Given the description of an element on the screen output the (x, y) to click on. 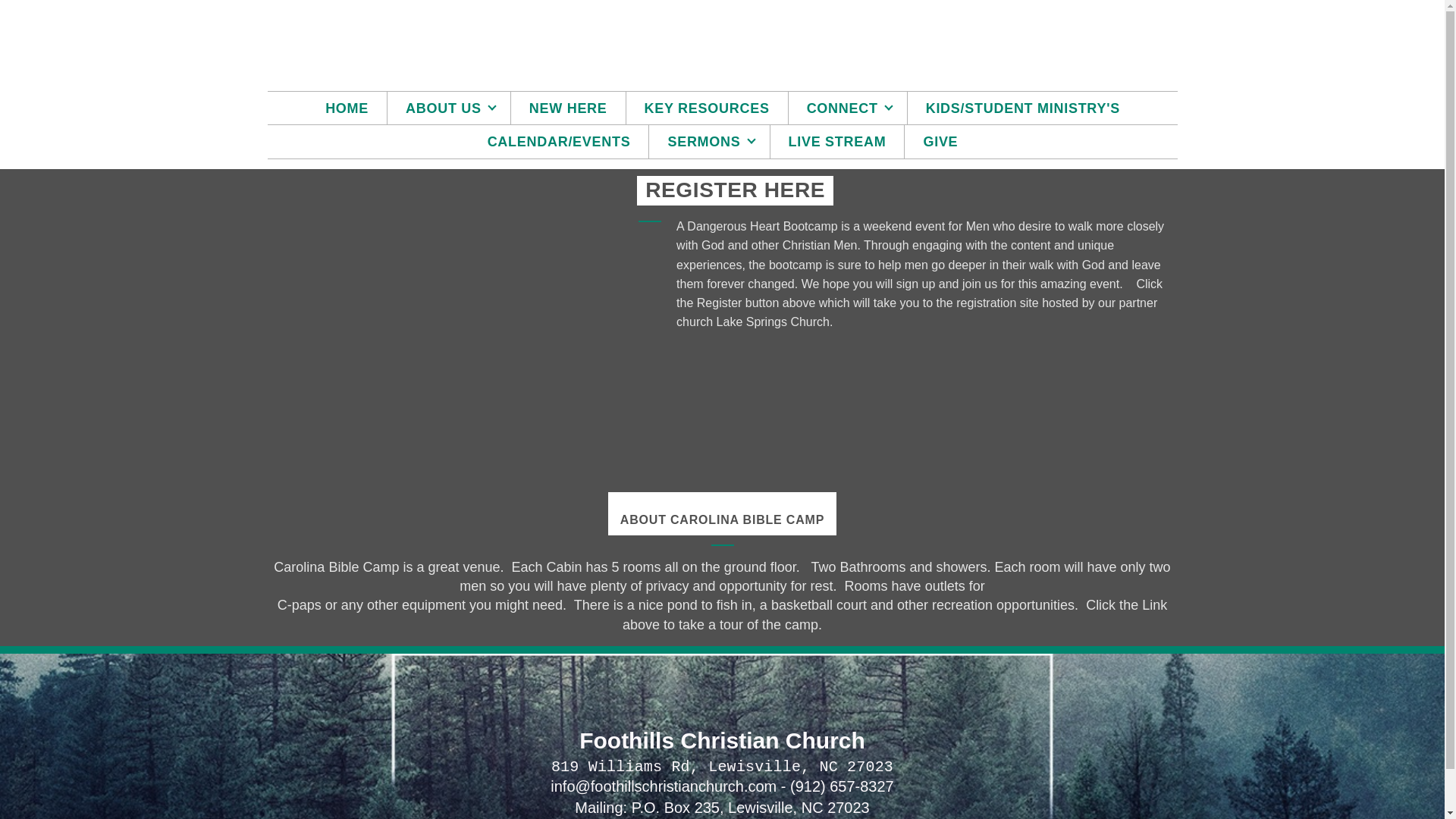
NEW HERE (568, 108)
HOME (347, 108)
ABOUT US (449, 108)
CONNECT (848, 108)
KEY RESOURCES (706, 108)
